Given the description of an element on the screen output the (x, y) to click on. 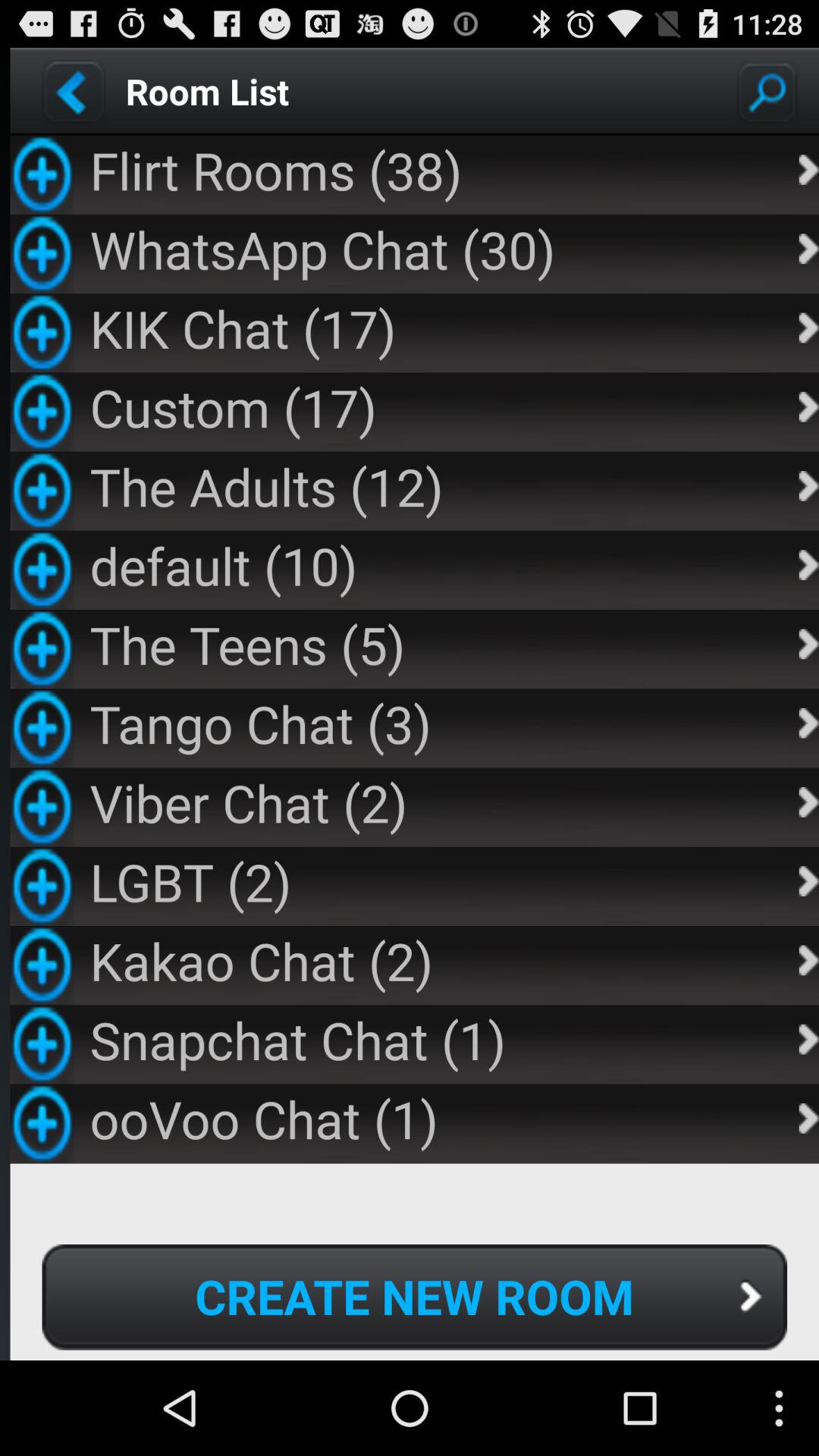
click the create new room item (414, 1297)
